Given the description of an element on the screen output the (x, y) to click on. 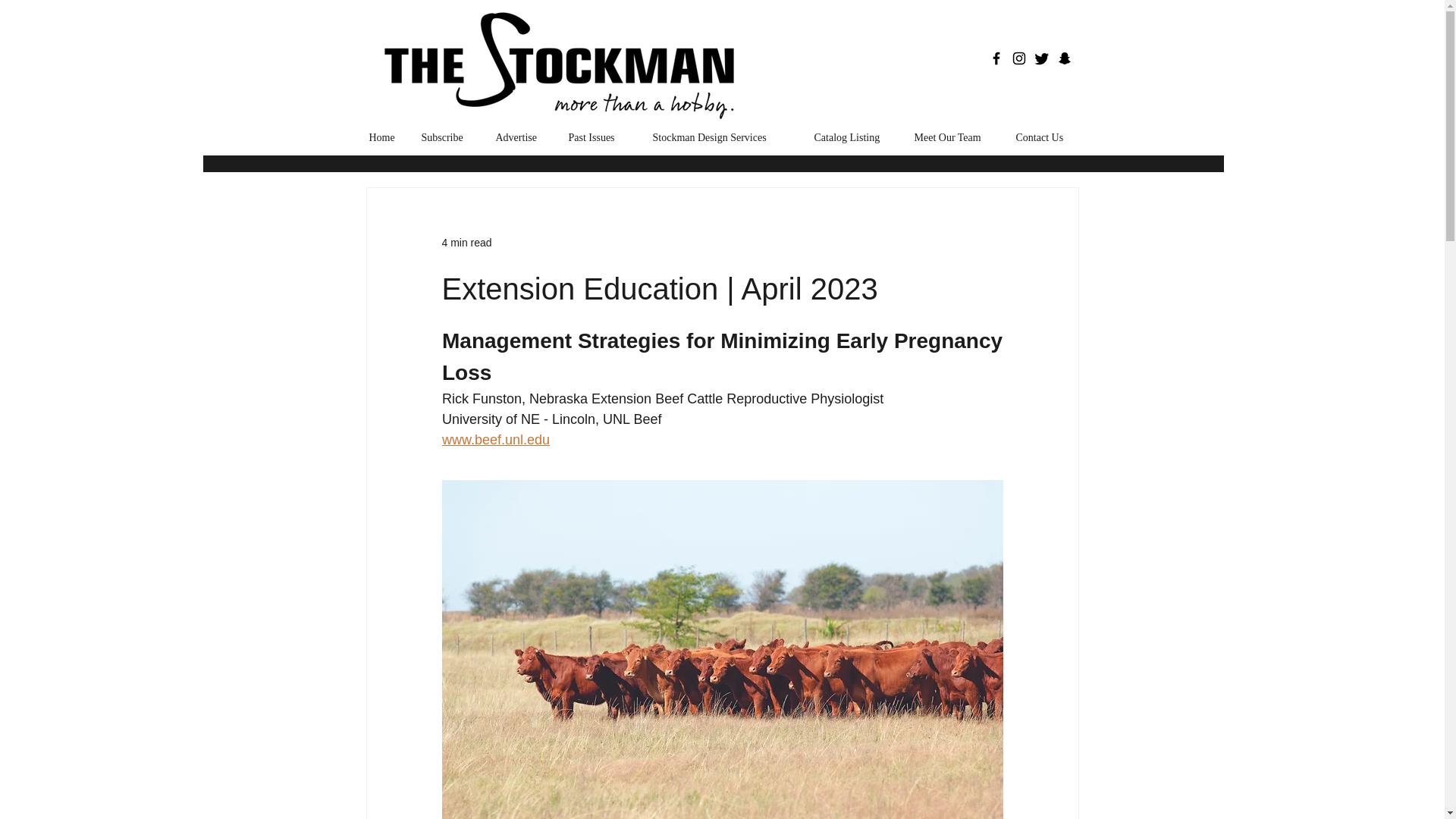
Home (384, 137)
Contact Us (1045, 137)
Past Issues (598, 137)
Meet Our Team (953, 137)
4 min read (466, 242)
Stockman Design Services (722, 137)
Catalog Listing (852, 137)
Advertise (519, 137)
www.beef.unl.edu (494, 439)
Subscribe (446, 137)
